Given the description of an element on the screen output the (x, y) to click on. 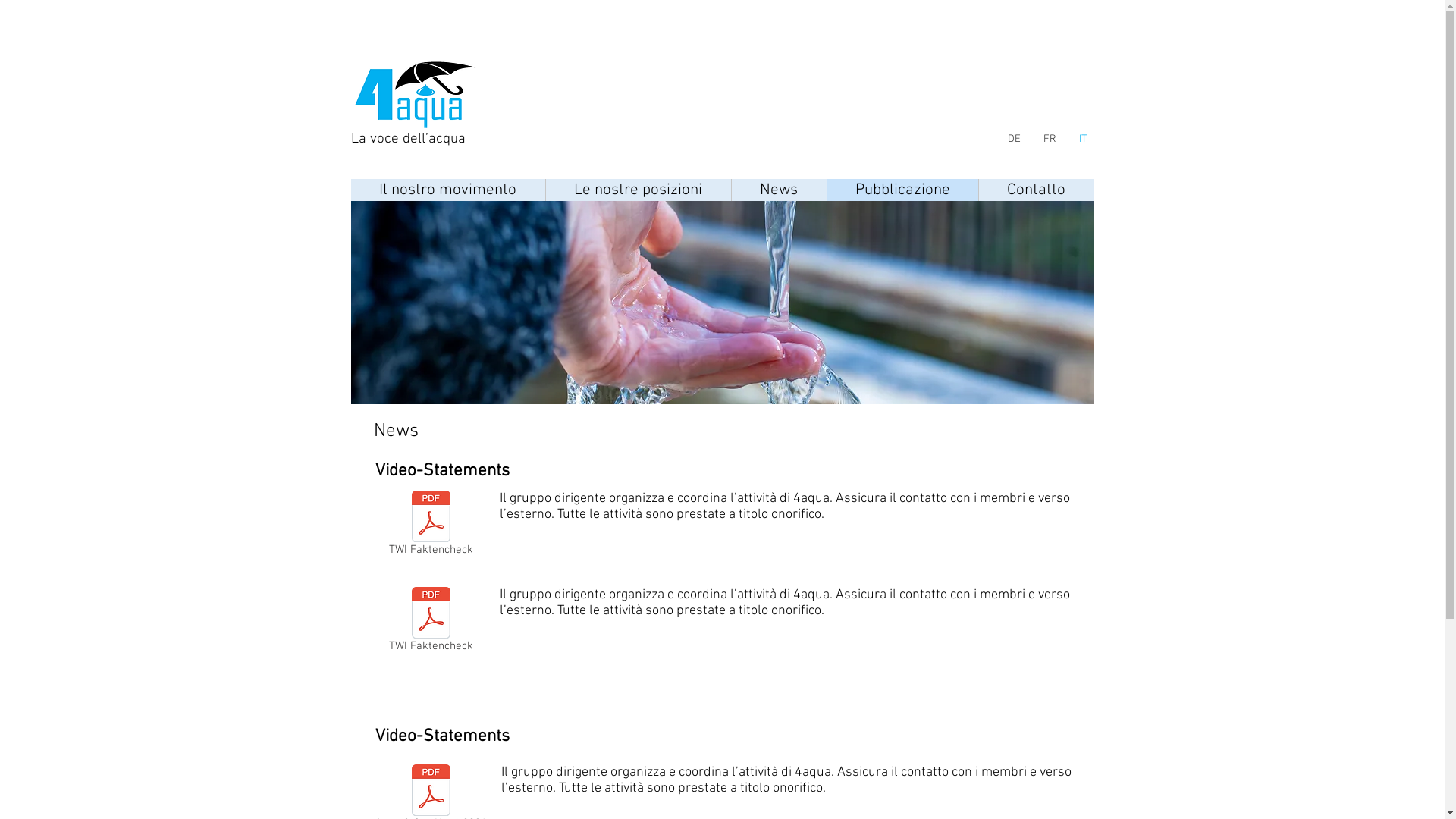
Contatto Element type: text (1035, 189)
Il nostro movimento Element type: text (447, 189)
FR Element type: text (1049, 139)
DE Element type: text (1013, 139)
TWI Faktencheck Element type: text (430, 525)
logo.png Element type: hover (721, 302)
Pubblicazione Element type: text (902, 189)
TWI Faktencheck Element type: text (430, 622)
logo.png Element type: hover (419, 94)
News Element type: text (778, 189)
Le nostre posizioni Element type: text (637, 189)
IT Element type: text (1082, 139)
